Given the description of an element on the screen output the (x, y) to click on. 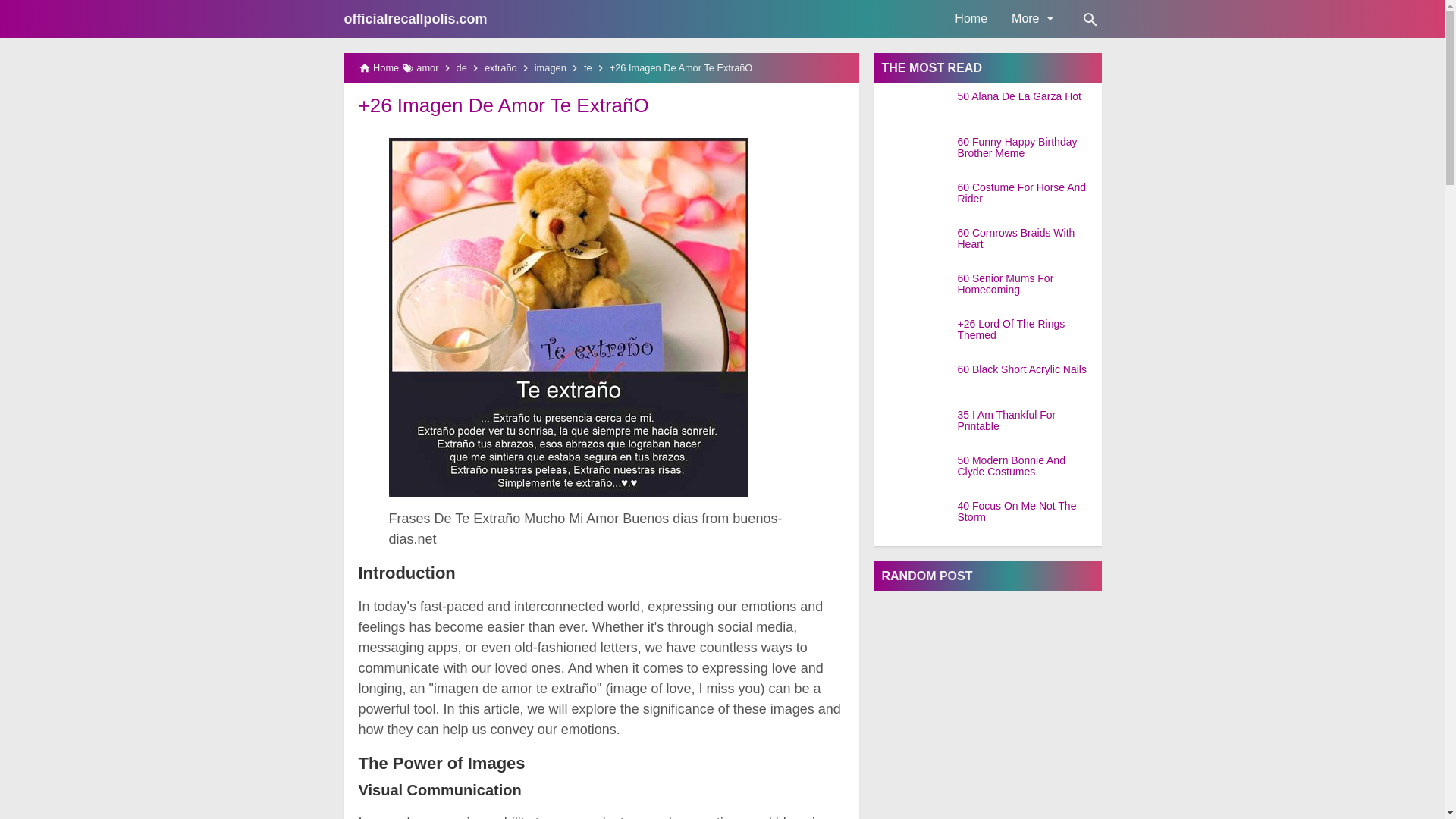
imagen (550, 68)
50 Alana De La Garza Hot (1028, 96)
60 Funny Happy Birthday Brother Meme (1028, 147)
60 Cornrows Braids With Heart (1028, 238)
60 Senior Mums For Homecoming (1028, 284)
More (1030, 18)
60 Costume For Horse And Rider (1028, 193)
imagen (550, 68)
Home (970, 18)
Home (970, 18)
